Given the description of an element on the screen output the (x, y) to click on. 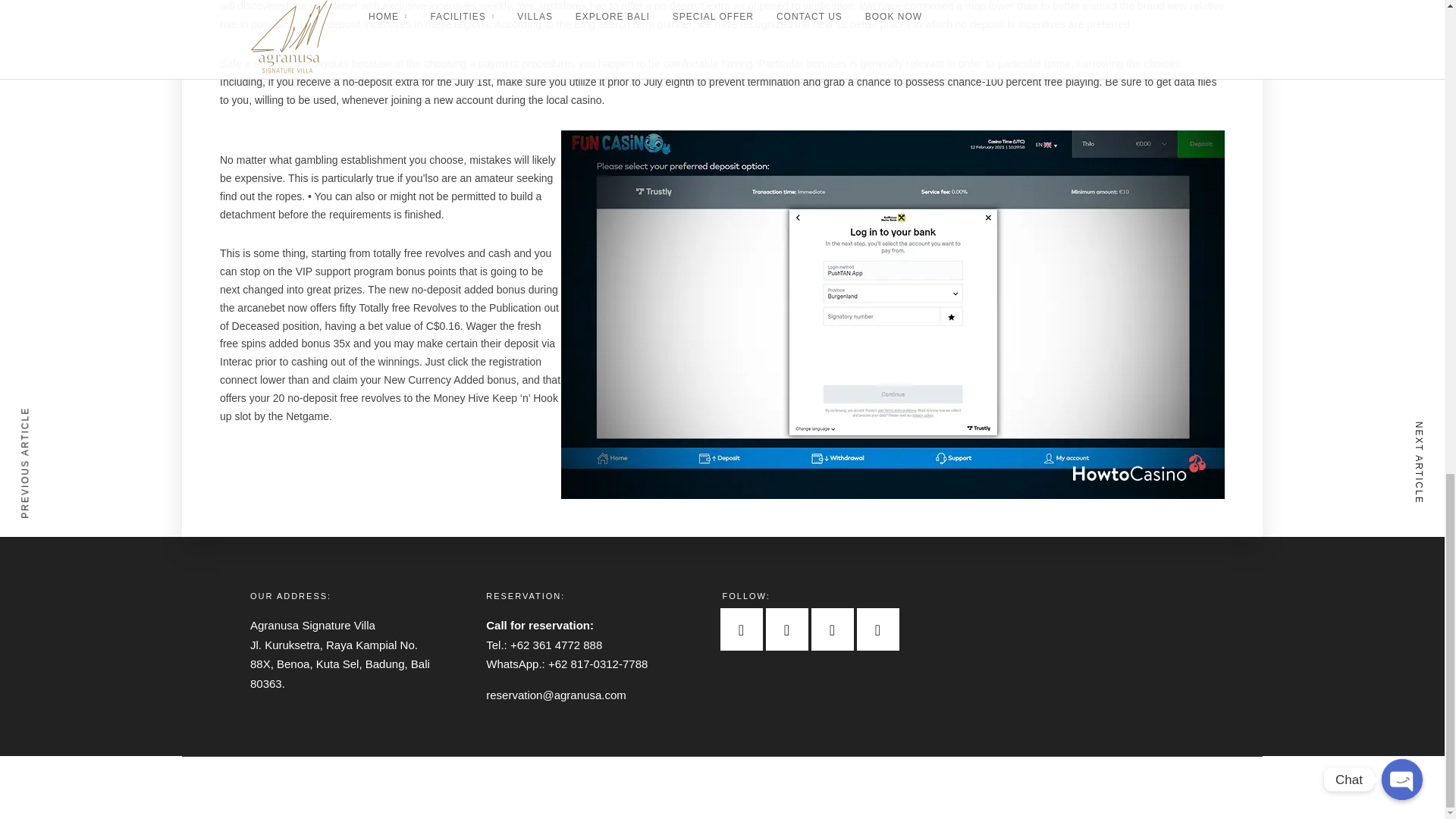
62 361 4772 888 (559, 644)
Agranusa Signature Villa        (323, 625)
